Given the description of an element on the screen output the (x, y) to click on. 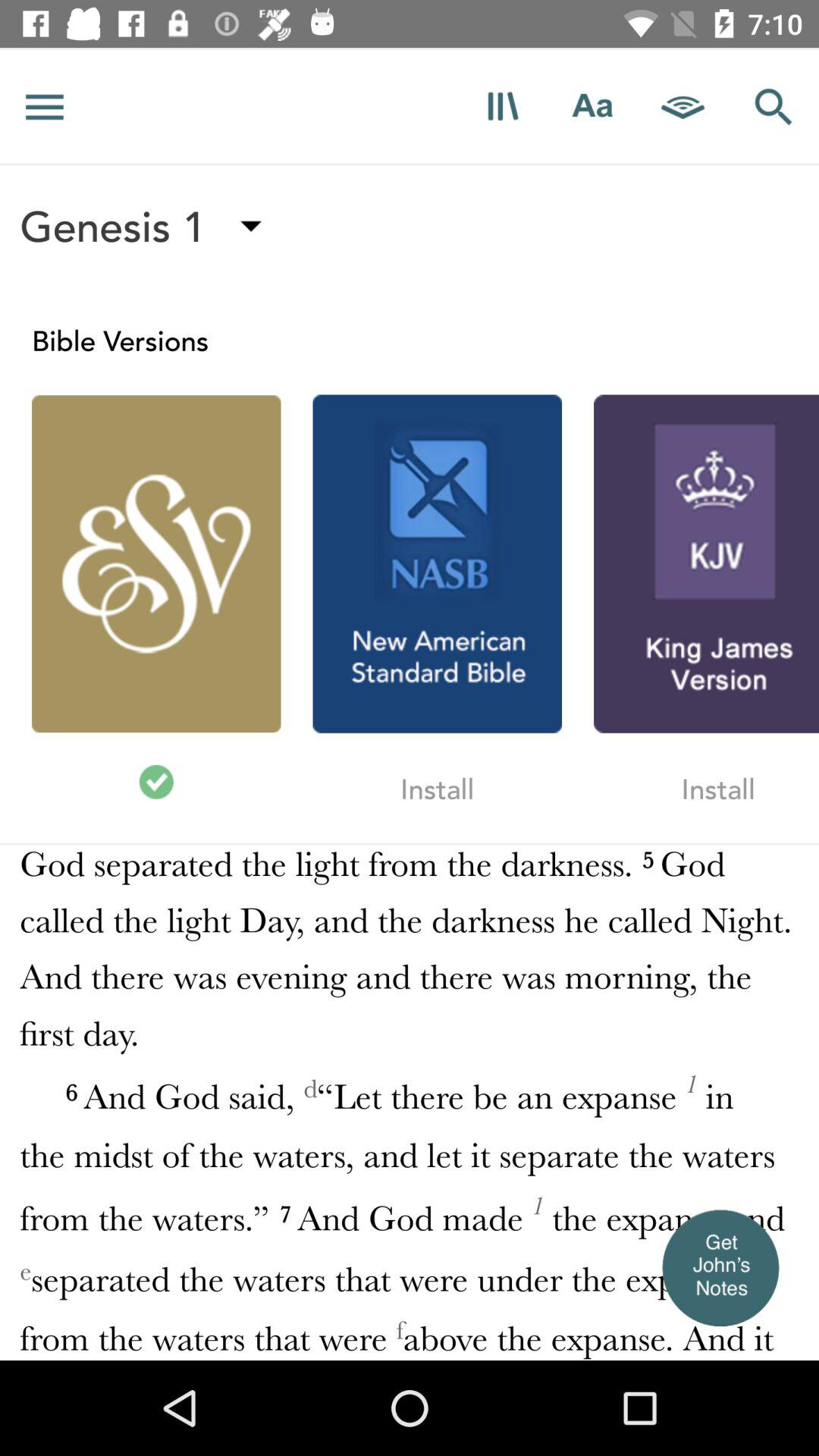
go to search (773, 106)
